Given the description of an element on the screen output the (x, y) to click on. 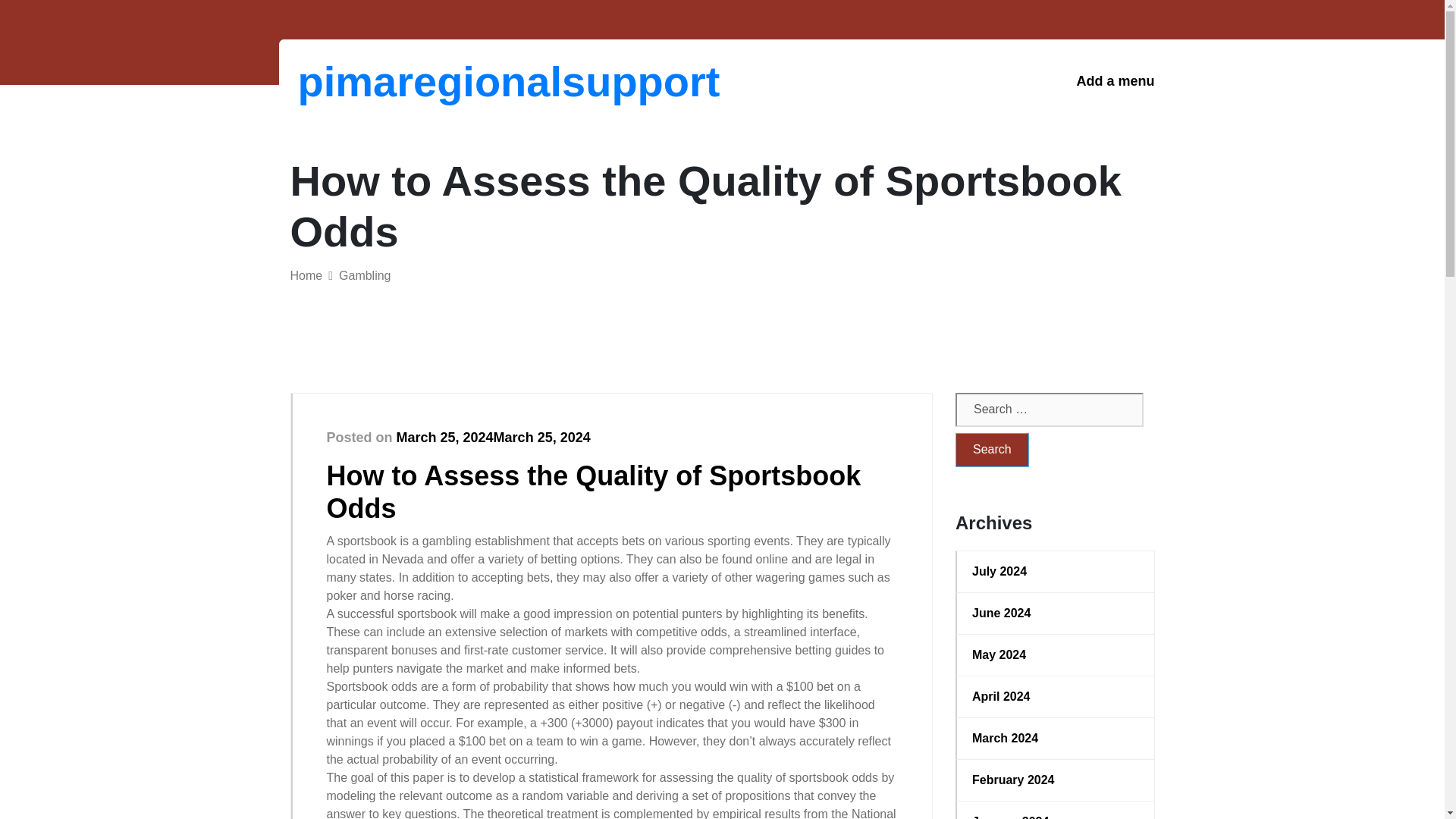
How to Assess the Quality of Sportsbook Odds (593, 492)
July 2024 (1055, 571)
March 2024 (1055, 738)
March 25, 2024March 25, 2024 (493, 437)
Search (992, 449)
June 2024 (1055, 613)
Home (305, 275)
January 2024 (1055, 816)
Gambling (364, 275)
Add a menu (1114, 81)
pimaregionalsupport (376, 81)
February 2024 (1055, 780)
May 2024 (1055, 655)
April 2024 (1055, 696)
Search (992, 449)
